Given the description of an element on the screen output the (x, y) to click on. 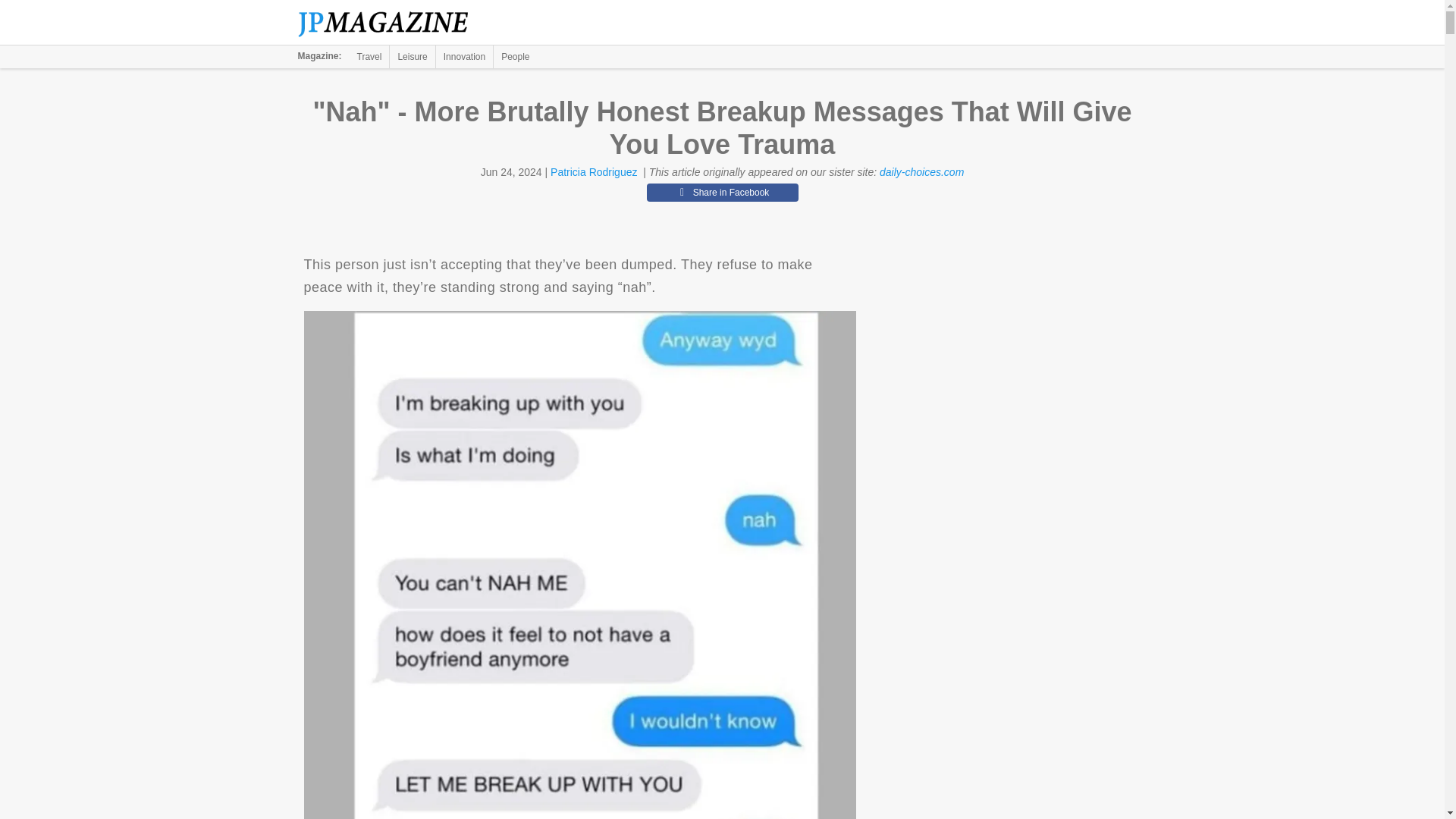
Travel (369, 56)
People (515, 56)
Share in Facebook (721, 192)
Patricia Rodriguez (593, 172)
Leisure (411, 56)
The Jerusalem Post Magazine (391, 22)
Innovation (464, 56)
daily-choices.com (921, 172)
